Given the description of an element on the screen output the (x, y) to click on. 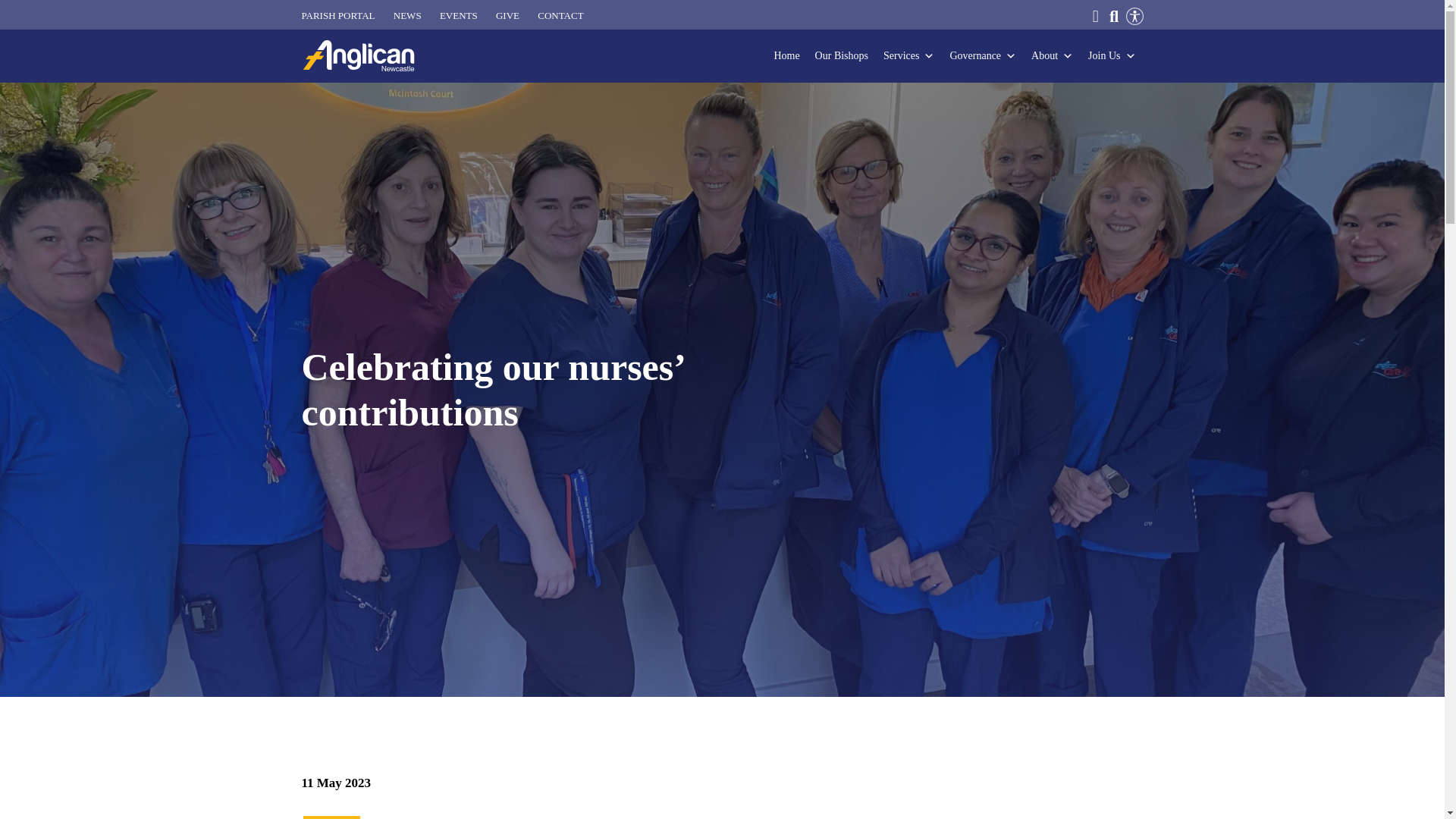
Our Bishops (842, 55)
Governance (982, 55)
CONTACT (560, 16)
EVENTS (458, 16)
GIVE (507, 16)
PARISH PORTAL (338, 16)
Services (909, 55)
NEWS (407, 16)
